Given the description of an element on the screen output the (x, y) to click on. 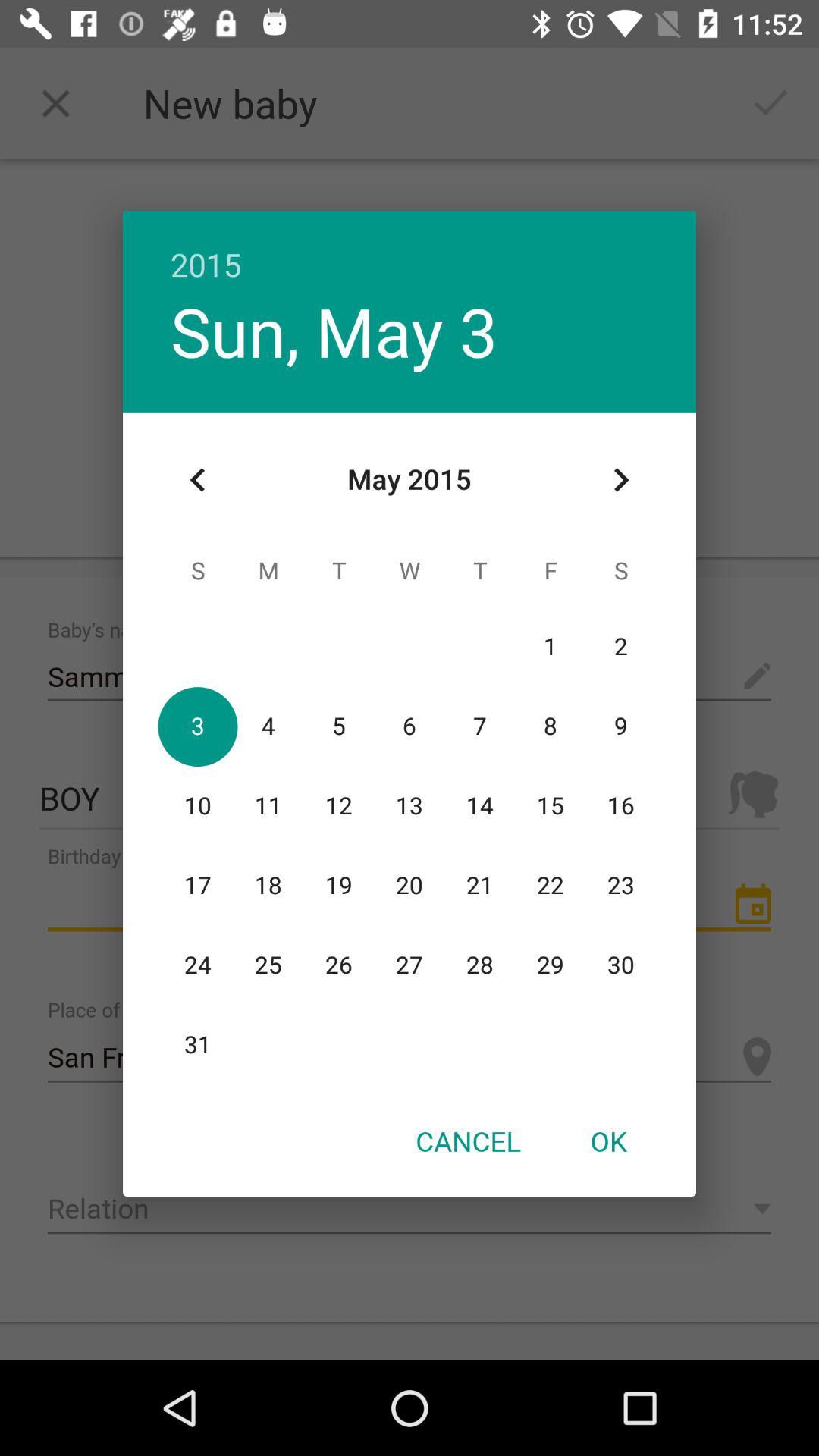
press the icon at the bottom (467, 1140)
